Given the description of an element on the screen output the (x, y) to click on. 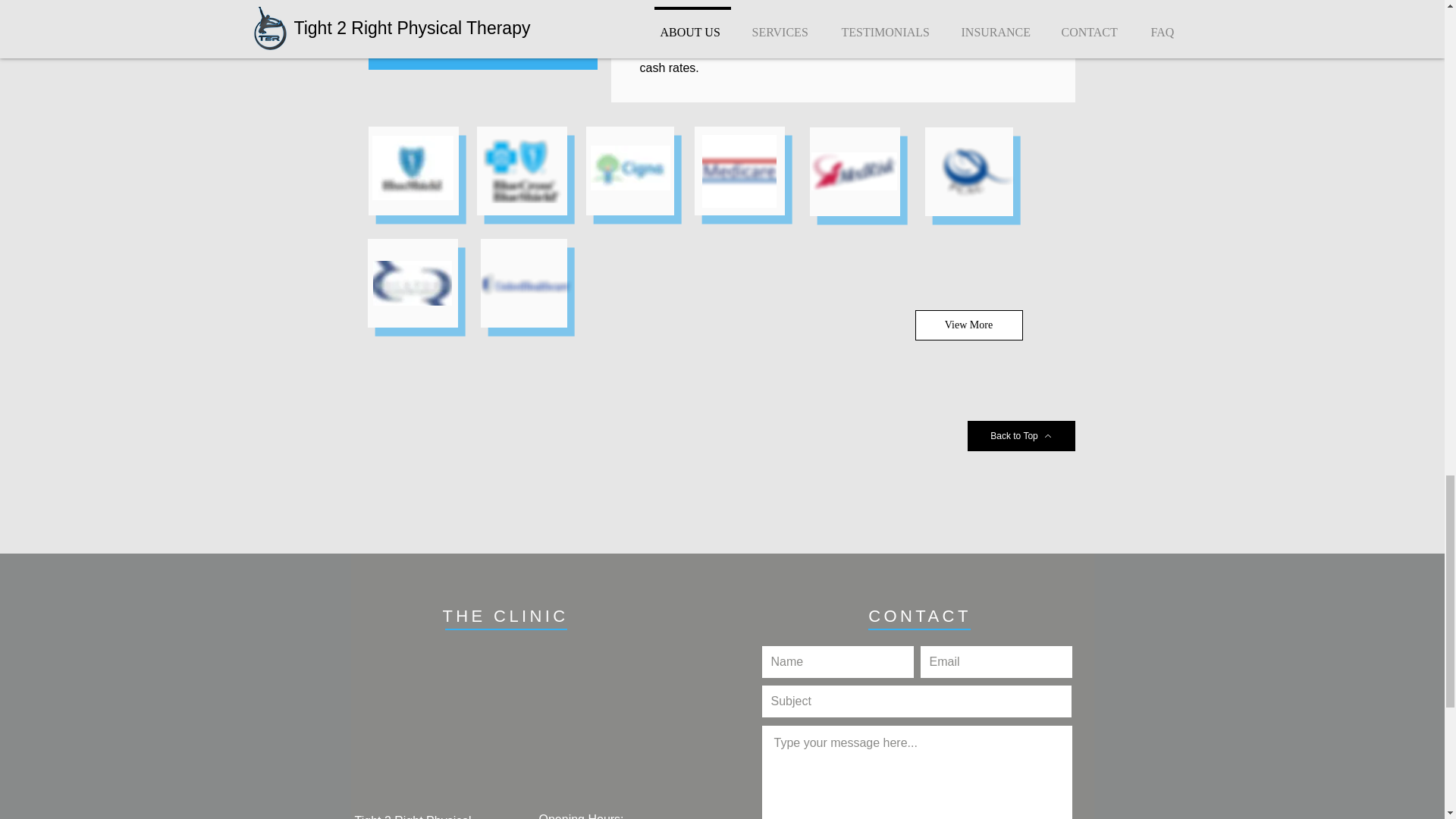
View More (968, 325)
Back to Top (1021, 435)
insurance (938, 2)
